Given the description of an element on the screen output the (x, y) to click on. 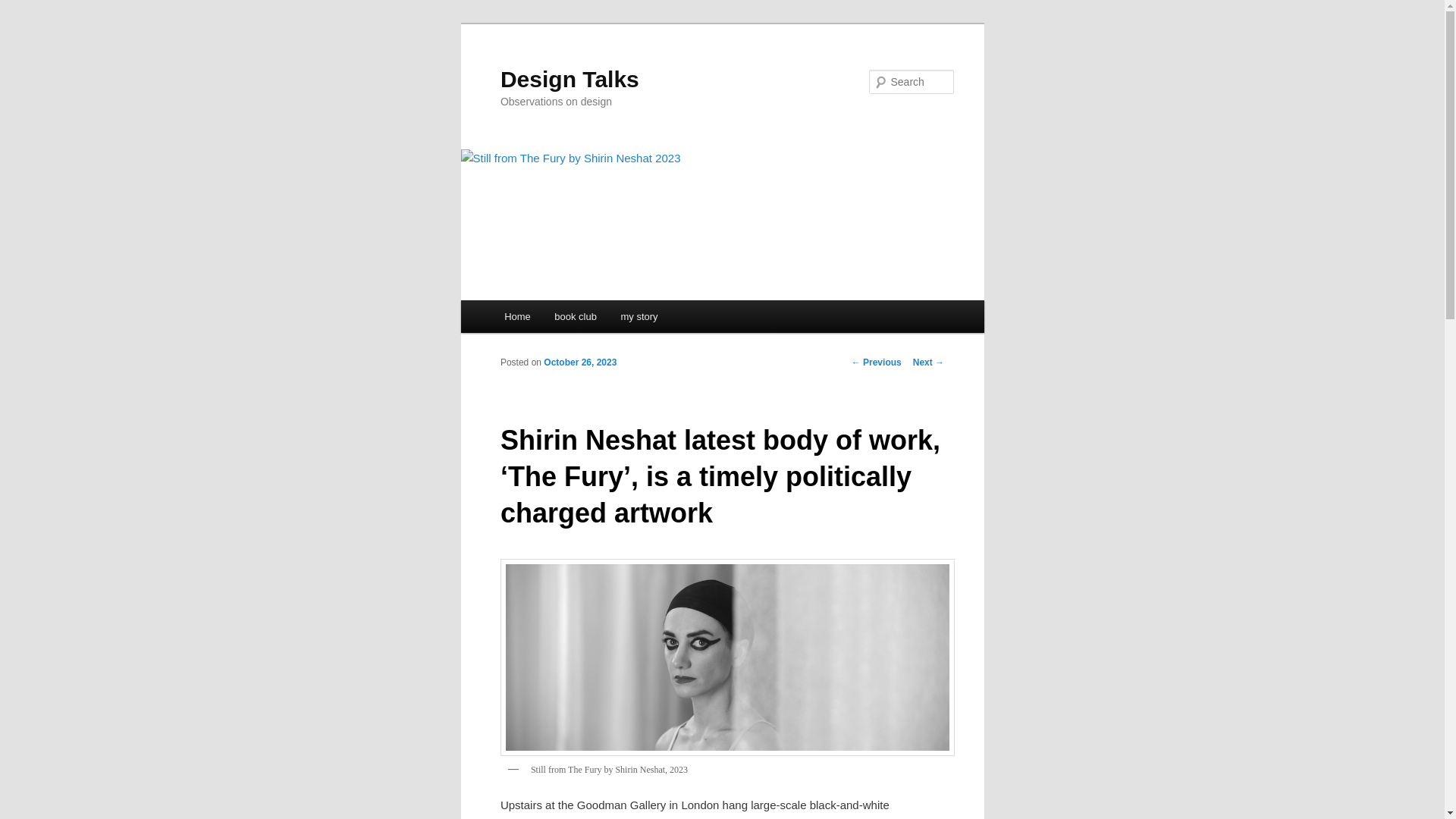
Home (516, 316)
my story (638, 316)
Search (24, 8)
October 26, 2023 (579, 362)
book club (575, 316)
Design Talks (569, 78)
Search (21, 11)
